Given the description of an element on the screen output the (x, y) to click on. 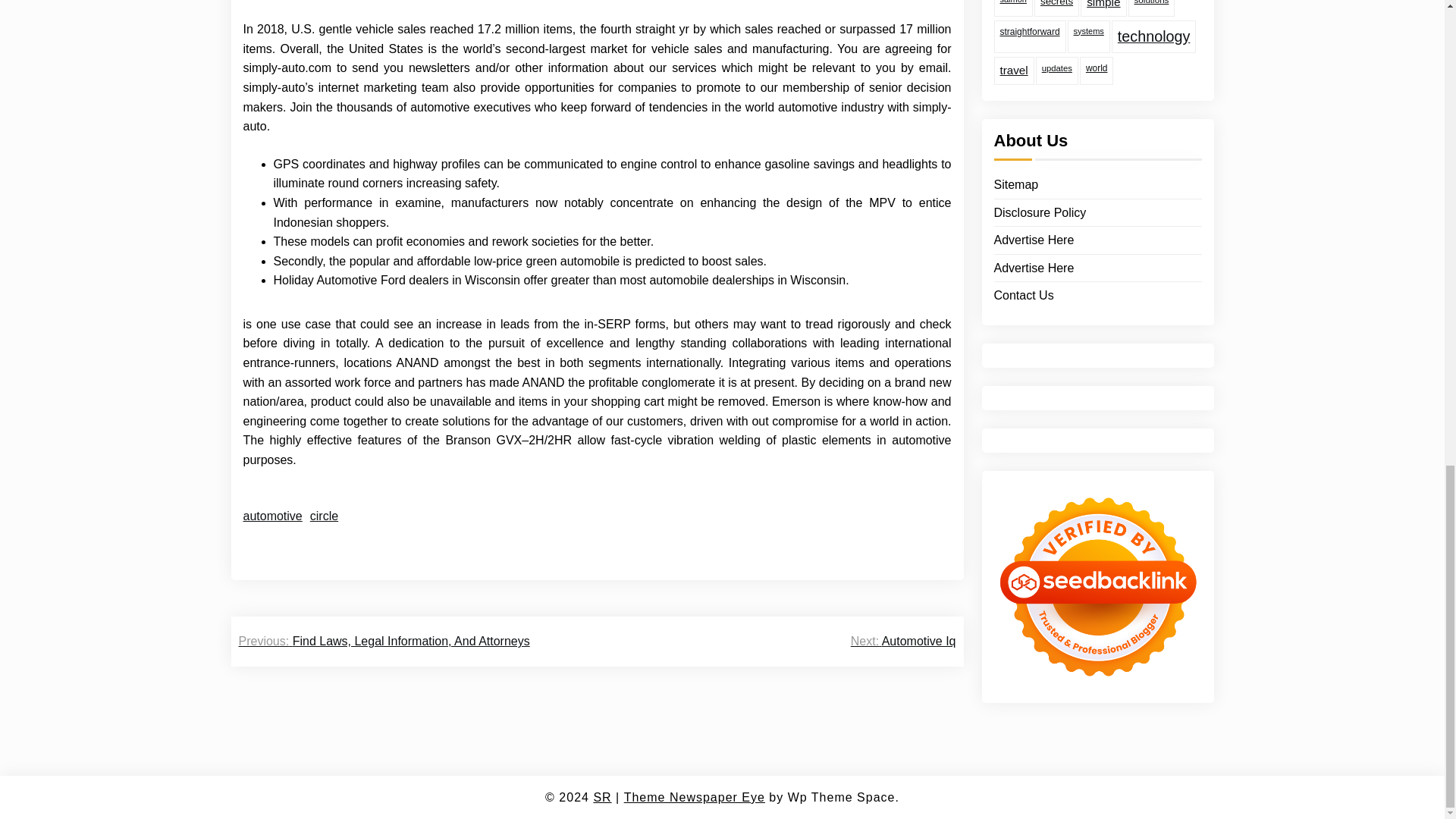
circle (323, 516)
Previous: Find Laws, Legal Information, And Attorneys (383, 641)
Seedbacklink (1096, 413)
Next: Automotive Iq (903, 641)
automotive (272, 516)
